Given the description of an element on the screen output the (x, y) to click on. 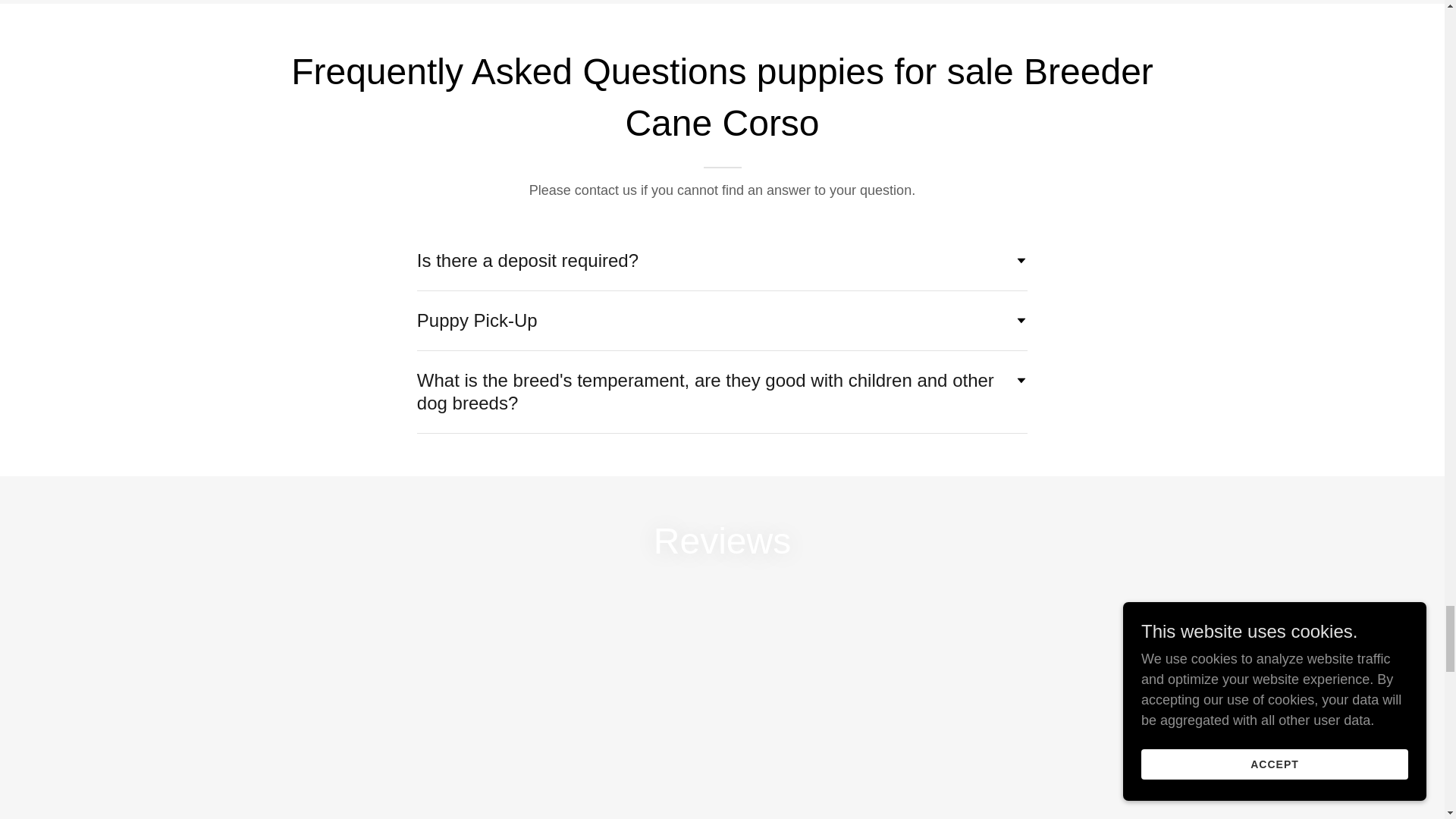
Is there a deposit required? (721, 260)
Puppy Pick-Up (721, 320)
